Given the description of an element on the screen output the (x, y) to click on. 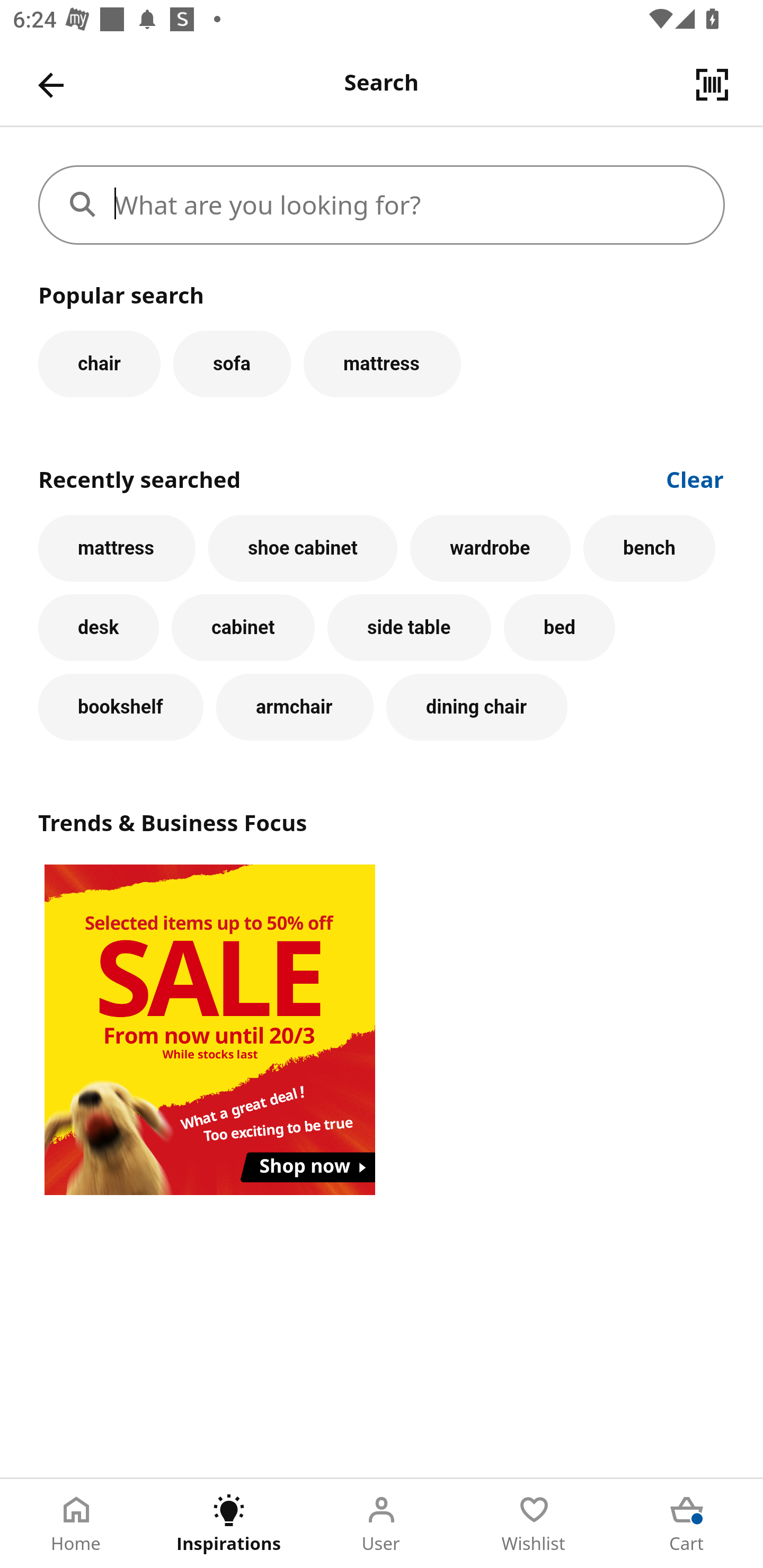
chair (99, 363)
sofa (231, 363)
mattress (381, 363)
Clear (695, 477)
mattress (116, 547)
shoe cabinet (302, 547)
wardrobe (490, 547)
bench (649, 547)
desk (98, 627)
cabinet (242, 627)
side table (409, 627)
bed (558, 627)
bookshelf (120, 707)
armchair (294, 707)
dining chair (476, 707)
Home
Tab 1 of 5 (76, 1522)
Inspirations
Tab 2 of 5 (228, 1522)
User
Tab 3 of 5 (381, 1522)
Wishlist
Tab 4 of 5 (533, 1522)
Cart
Tab 5 of 5 (686, 1522)
